Given the description of an element on the screen output the (x, y) to click on. 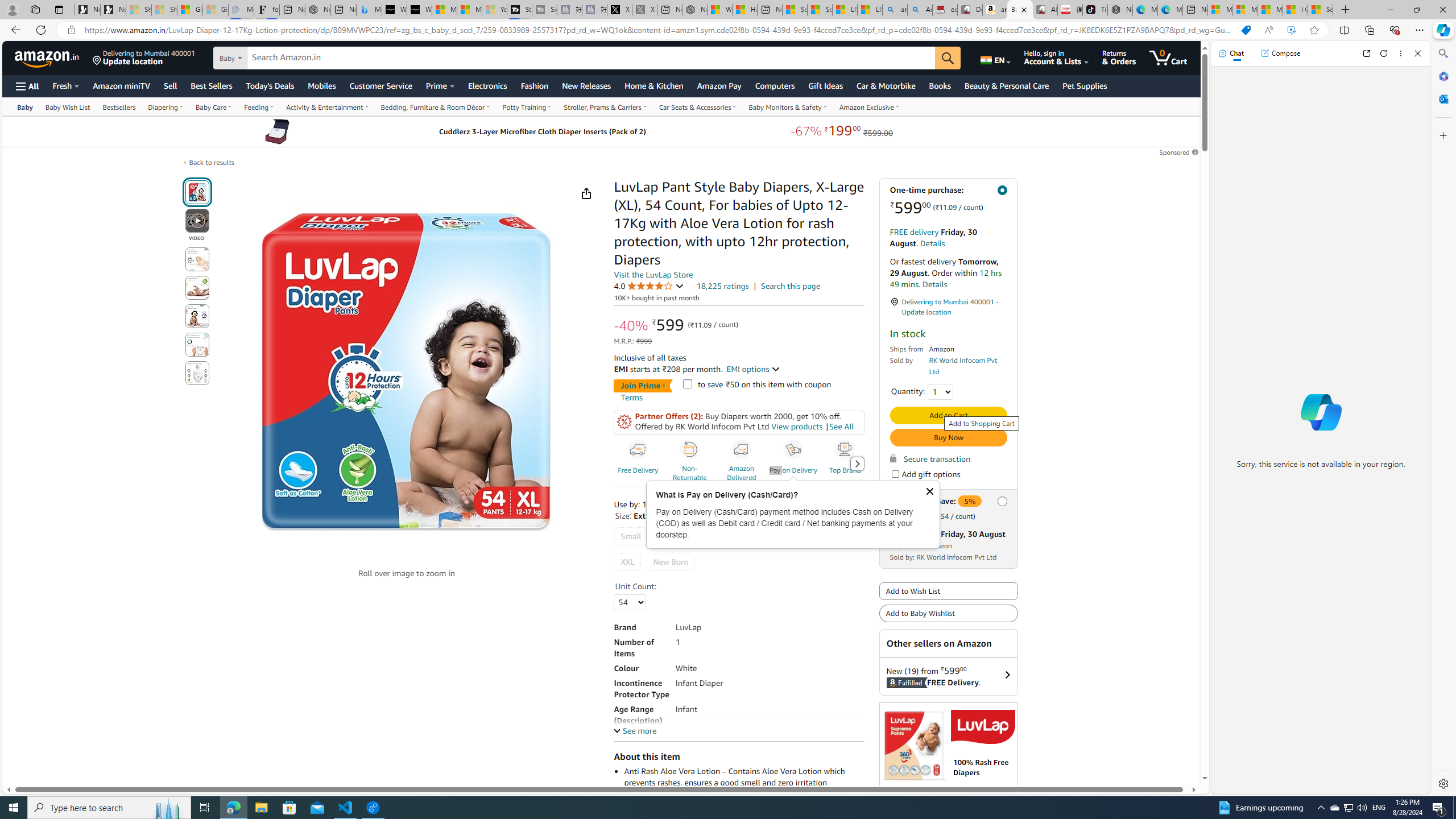
Enhance video (1291, 29)
You have the best price! (1245, 29)
Open link in new tab (1366, 53)
Microsoft 365 (1442, 76)
Nordace - Best Sellers (1119, 9)
amazon - Search (894, 9)
